Given the description of an element on the screen output the (x, y) to click on. 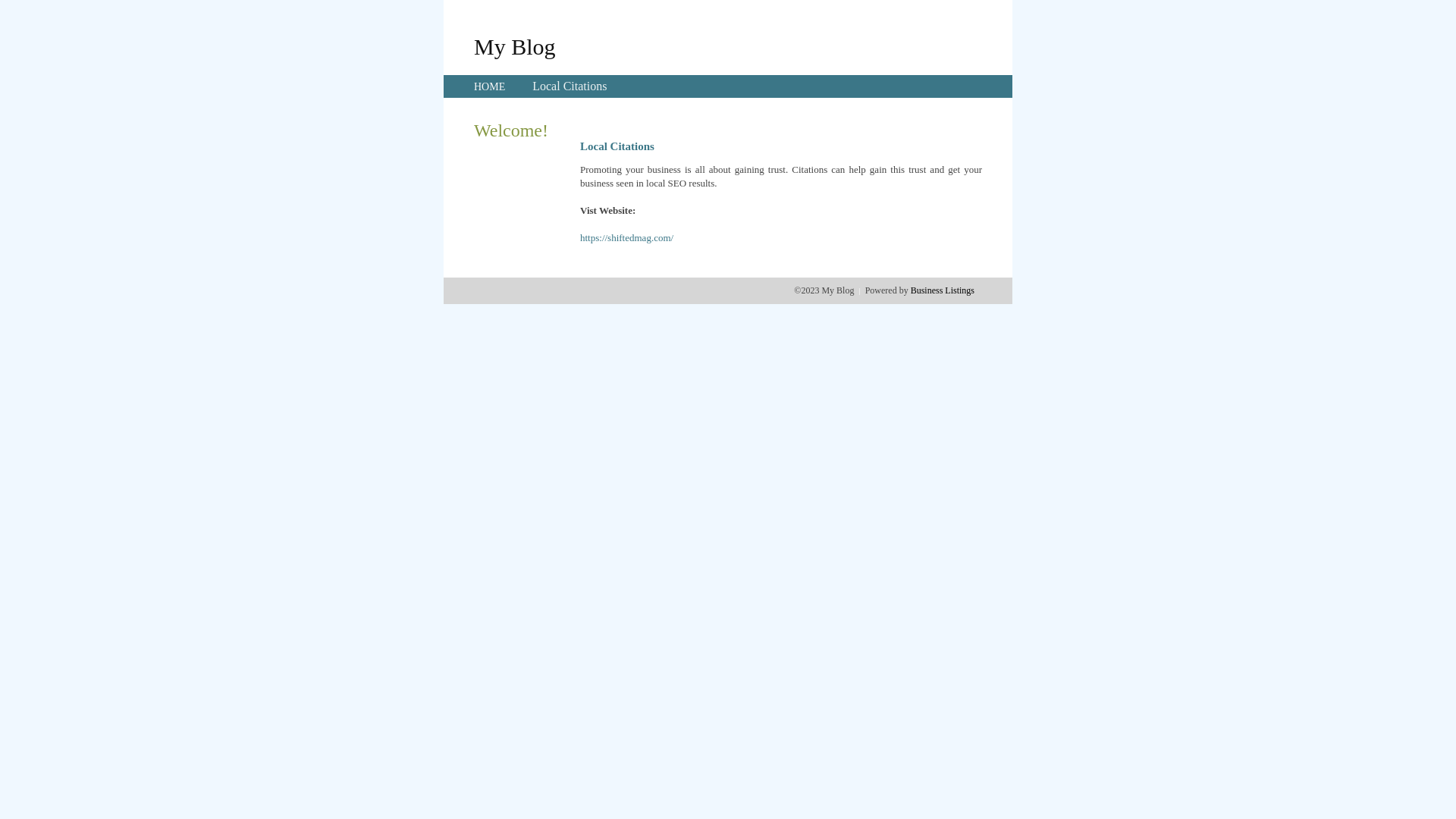
Local Citations Element type: text (569, 85)
Business Listings Element type: text (942, 290)
https://shiftedmag.com/ Element type: text (626, 237)
My Blog Element type: text (514, 46)
HOME Element type: text (489, 86)
